Given the description of an element on the screen output the (x, y) to click on. 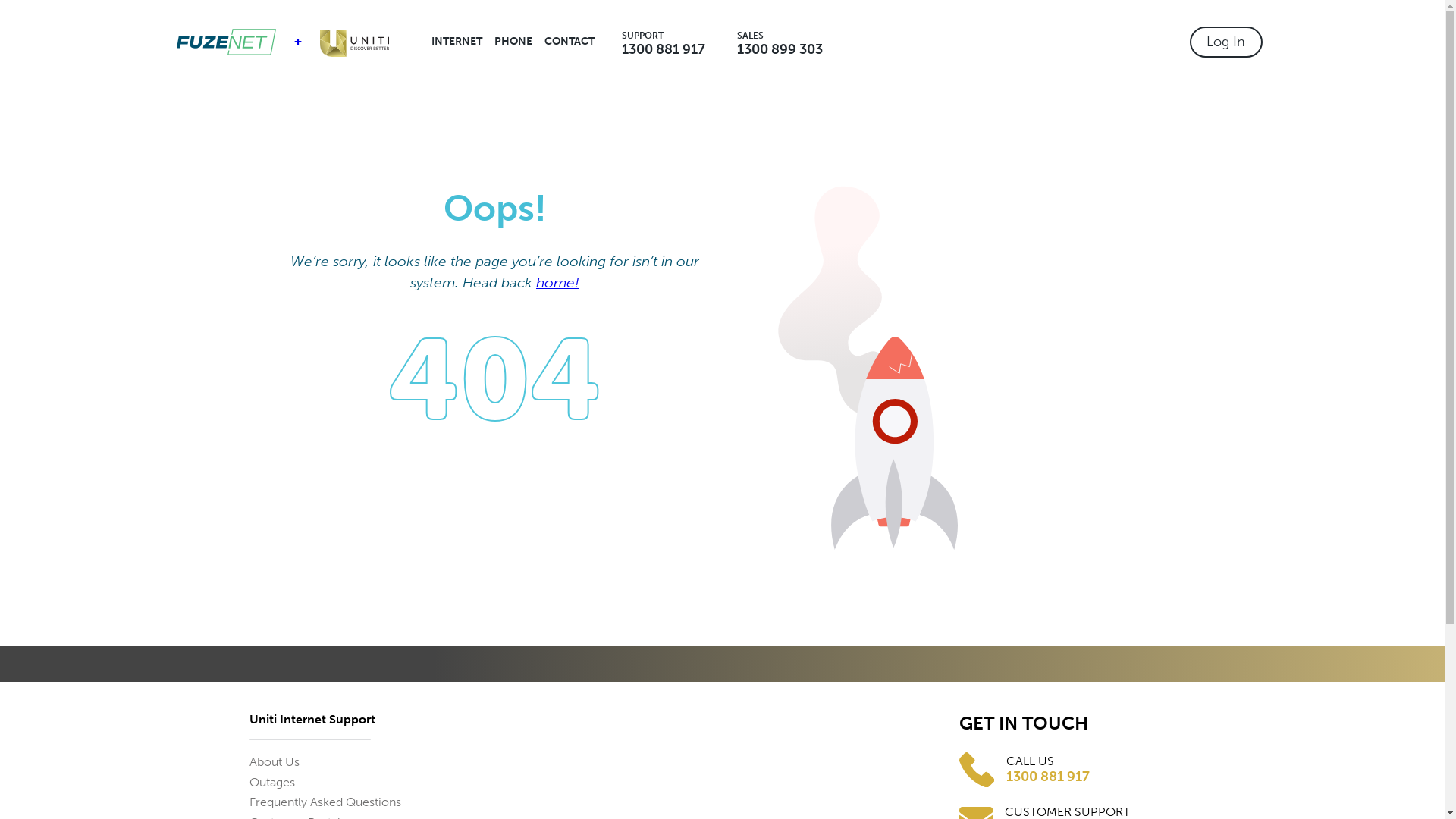
CONTACT Element type: text (569, 41)
Log In Element type: text (1225, 41)
1300 881 917 Element type: text (663, 48)
INTERNET Element type: text (455, 41)
Frequently Asked Questions Element type: text (324, 801)
About Us Element type: text (273, 761)
Outages Element type: text (271, 782)
+ Element type: text (296, 41)
1300 881 917 Element type: text (1047, 776)
1300 899 303 Element type: text (779, 48)
home! Element type: text (557, 282)
PHONE Element type: text (513, 41)
